Given the description of an element on the screen output the (x, y) to click on. 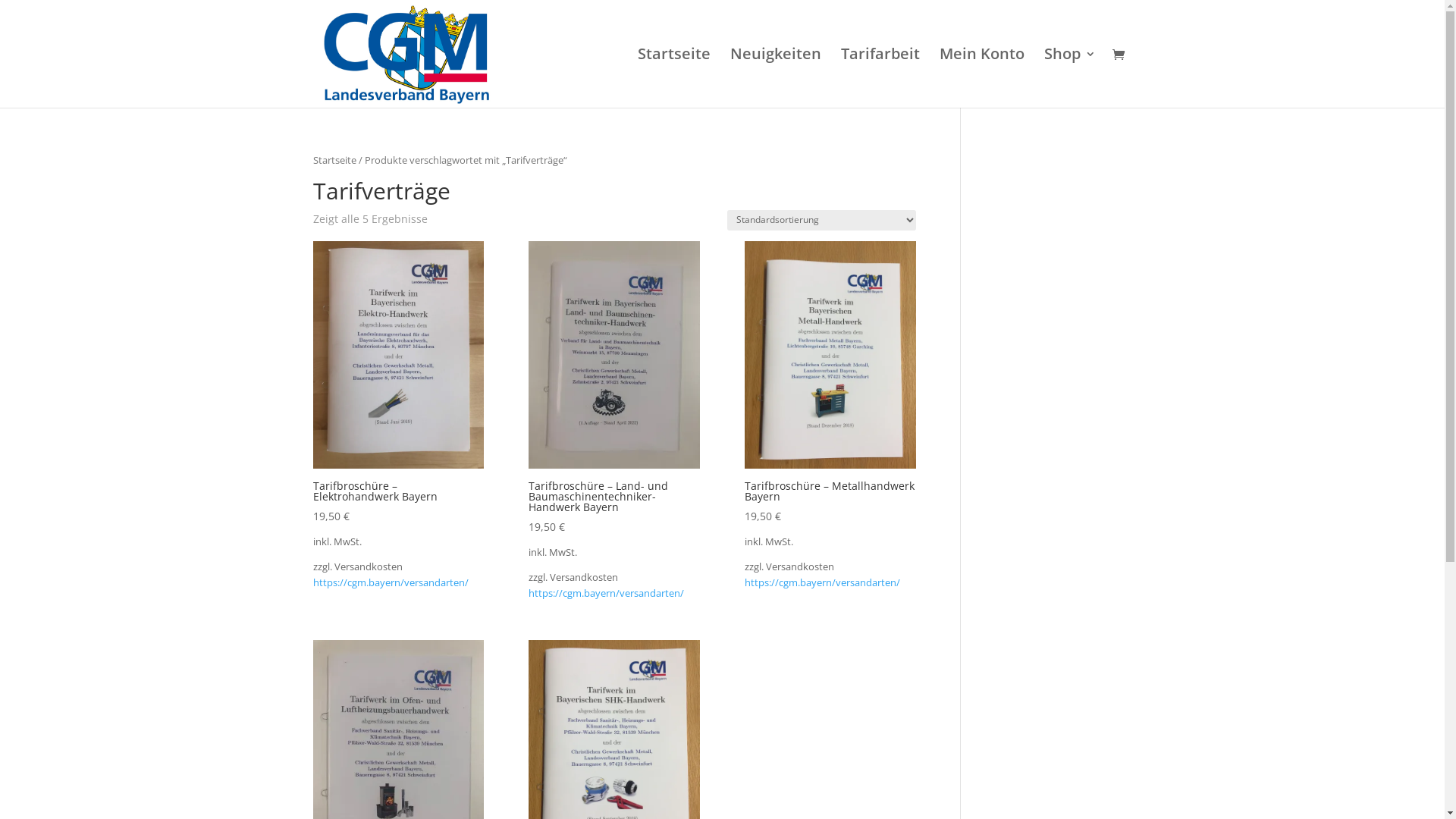
Shop Element type: text (1069, 77)
https://cgm.bayern/versandarten/ Element type: text (606, 592)
Mein Konto Element type: text (980, 77)
Neuigkeiten Element type: text (774, 77)
Tarifarbeit Element type: text (879, 77)
https://cgm.bayern/versandarten/ Element type: text (389, 582)
Startseite Element type: text (333, 159)
Startseite Element type: text (673, 77)
https://cgm.bayern/versandarten/ Element type: text (822, 582)
